Given the description of an element on the screen output the (x, y) to click on. 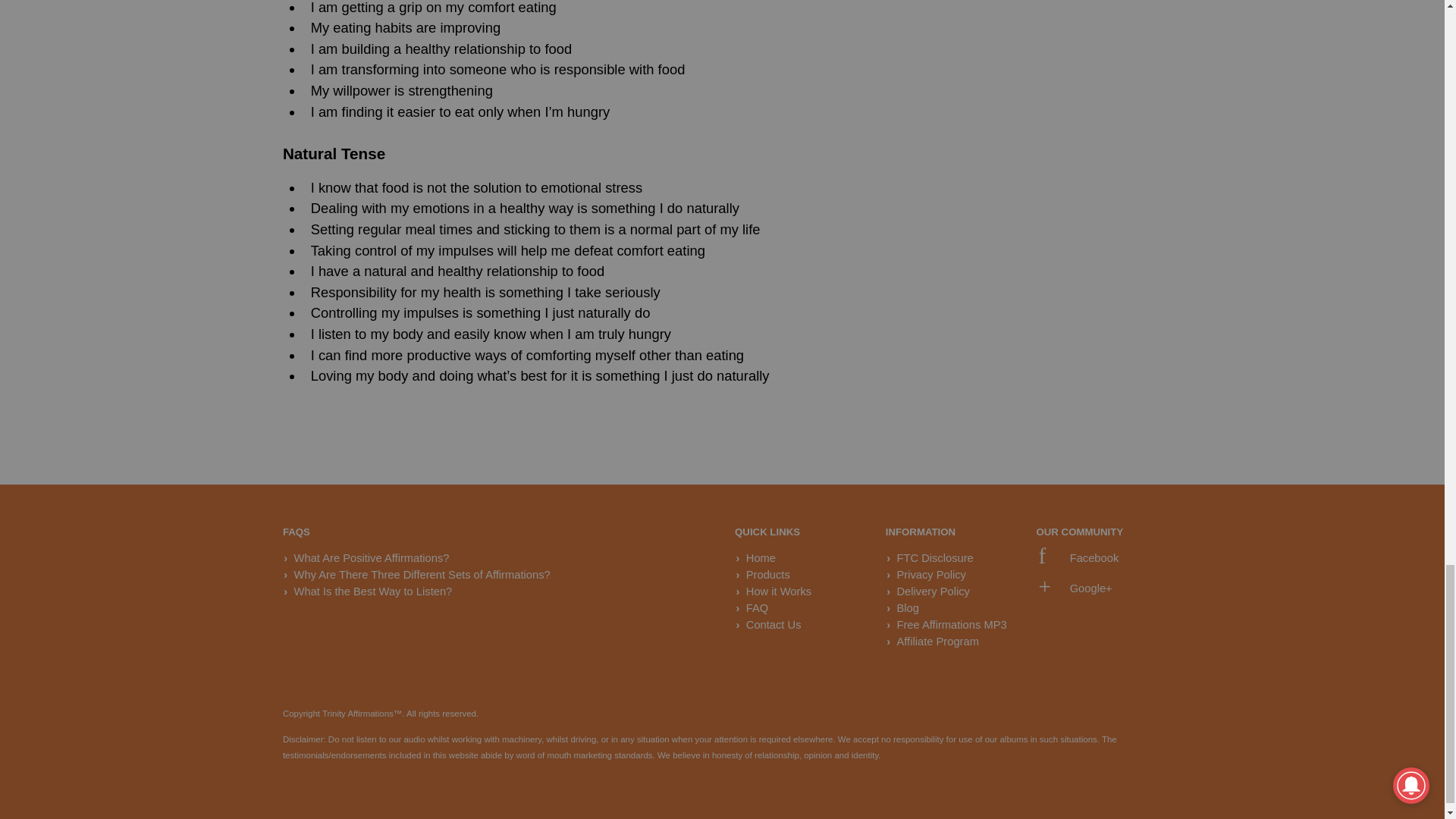
What Is the Best Way to Listen? (373, 591)
Free Affirmations MP3 (951, 624)
Facebook (1077, 558)
What Are Positive Affirmations? (371, 558)
Why Are There Three Different Sets of Affirmations? (422, 574)
Products (767, 574)
FTC Disclosure (934, 558)
Home (760, 558)
How it Works (777, 591)
Delivery Policy (932, 591)
Blog (907, 607)
FAQ (756, 607)
Privacy Policy (931, 574)
Contact Us (773, 624)
Affiliate Program (937, 641)
